Given the description of an element on the screen output the (x, y) to click on. 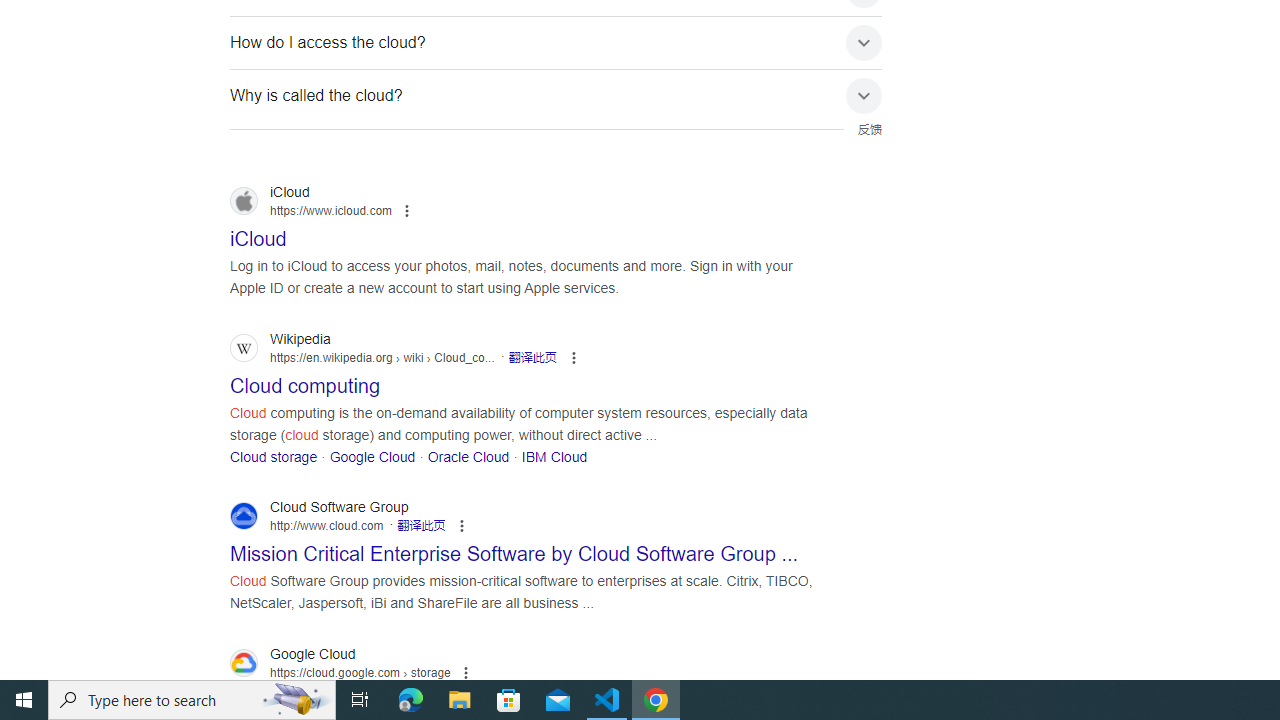
Why is called the cloud? (555, 95)
IBM Cloud (553, 456)
Google Cloud (372, 456)
Cloud storage (273, 456)
How do I access the cloud? (555, 42)
Oracle Cloud (468, 456)
 iCloud iCloud https://www.icloud.com (258, 233)
